Given the description of an element on the screen output the (x, y) to click on. 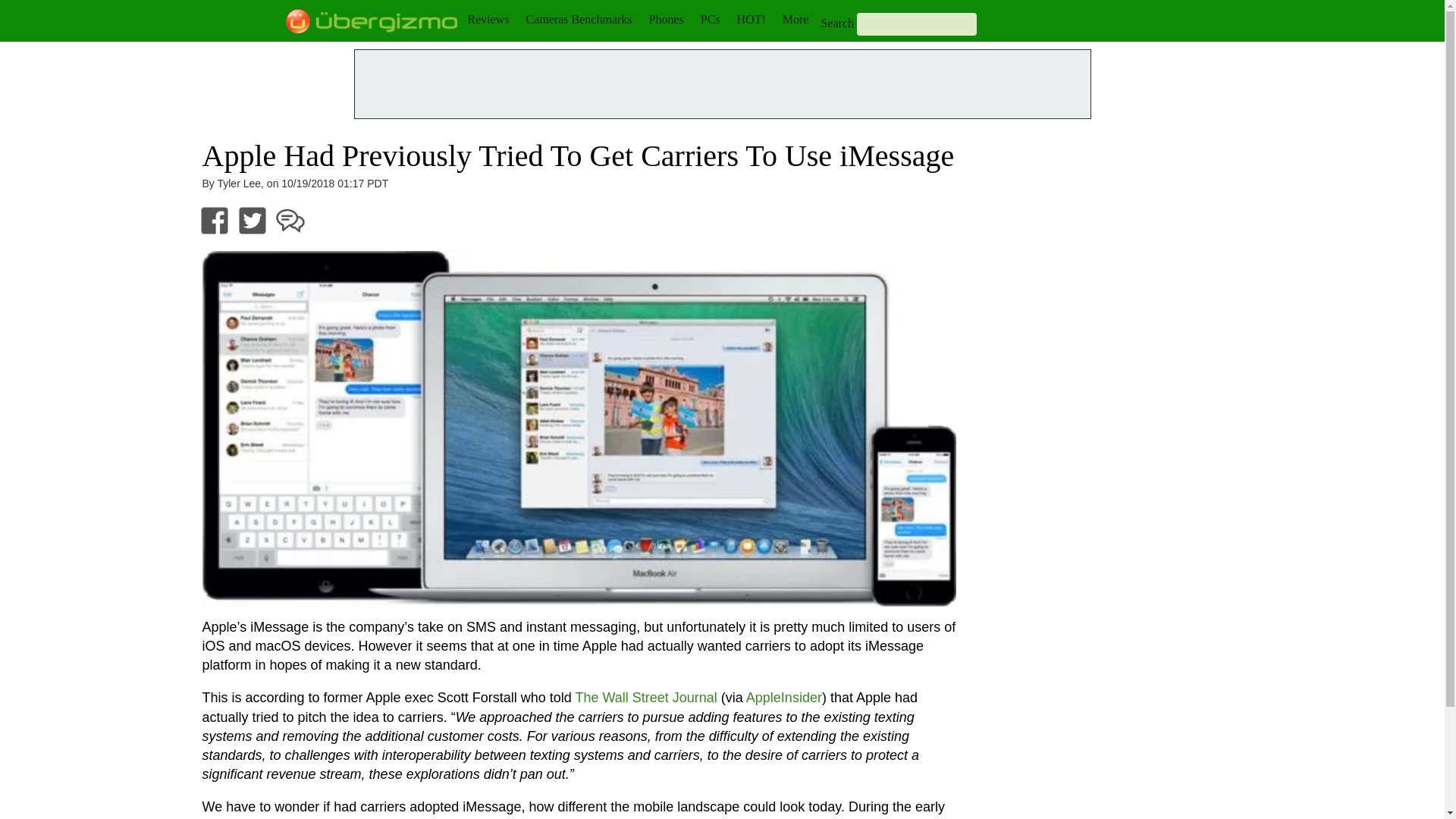
Cameras Benchmarks (578, 19)
PCs (710, 19)
Phones (666, 19)
Reviews (487, 19)
